Given the description of an element on the screen output the (x, y) to click on. 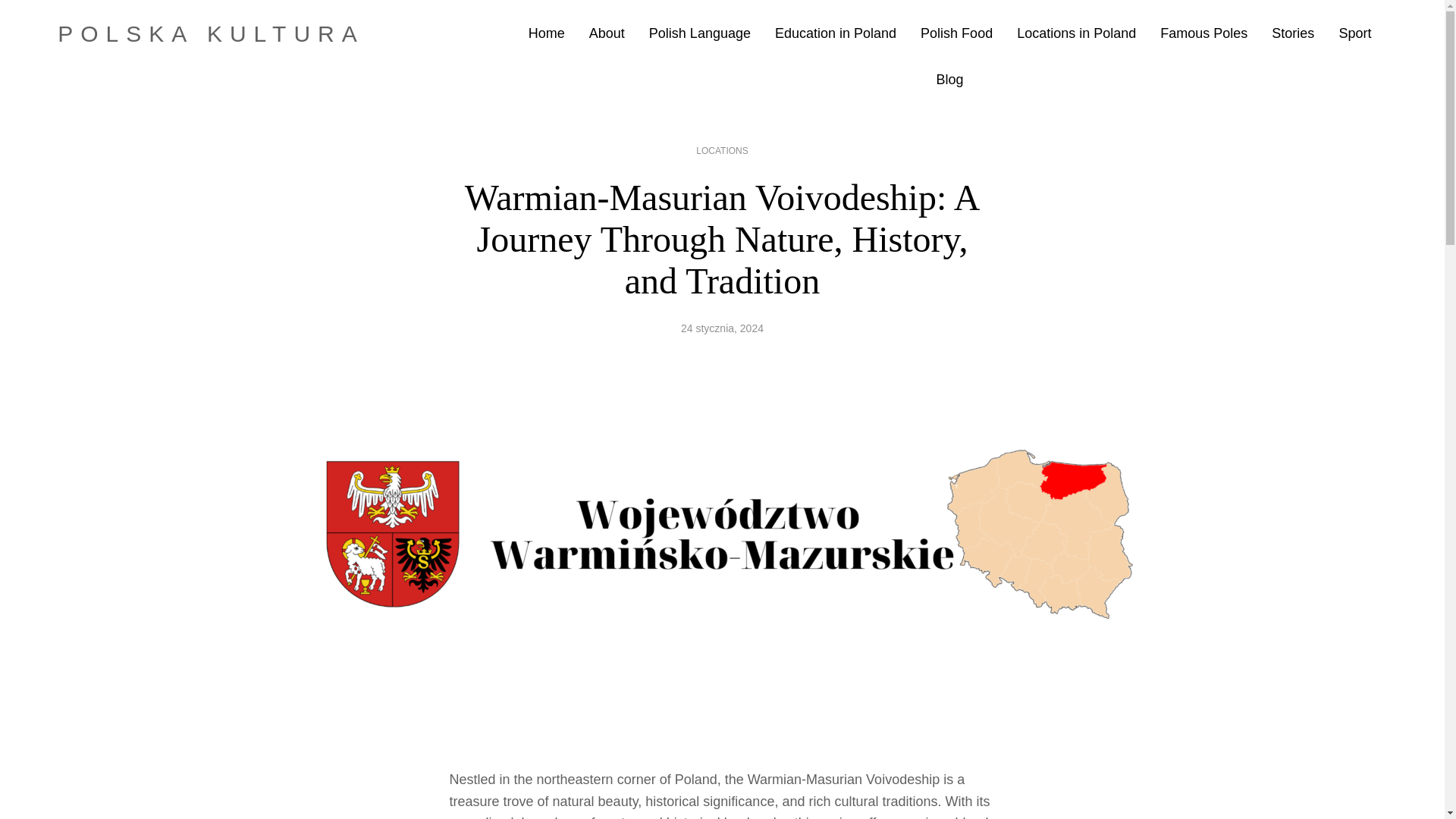
Blog (949, 79)
Stories (1292, 33)
About (606, 33)
POLSKA KULTURA (211, 33)
Famous Poles (1203, 33)
Polish Language (700, 33)
LOCATIONS (721, 150)
Sport (1354, 33)
Locations in Poland (1075, 33)
Education in Poland (835, 33)
